Given the description of an element on the screen output the (x, y) to click on. 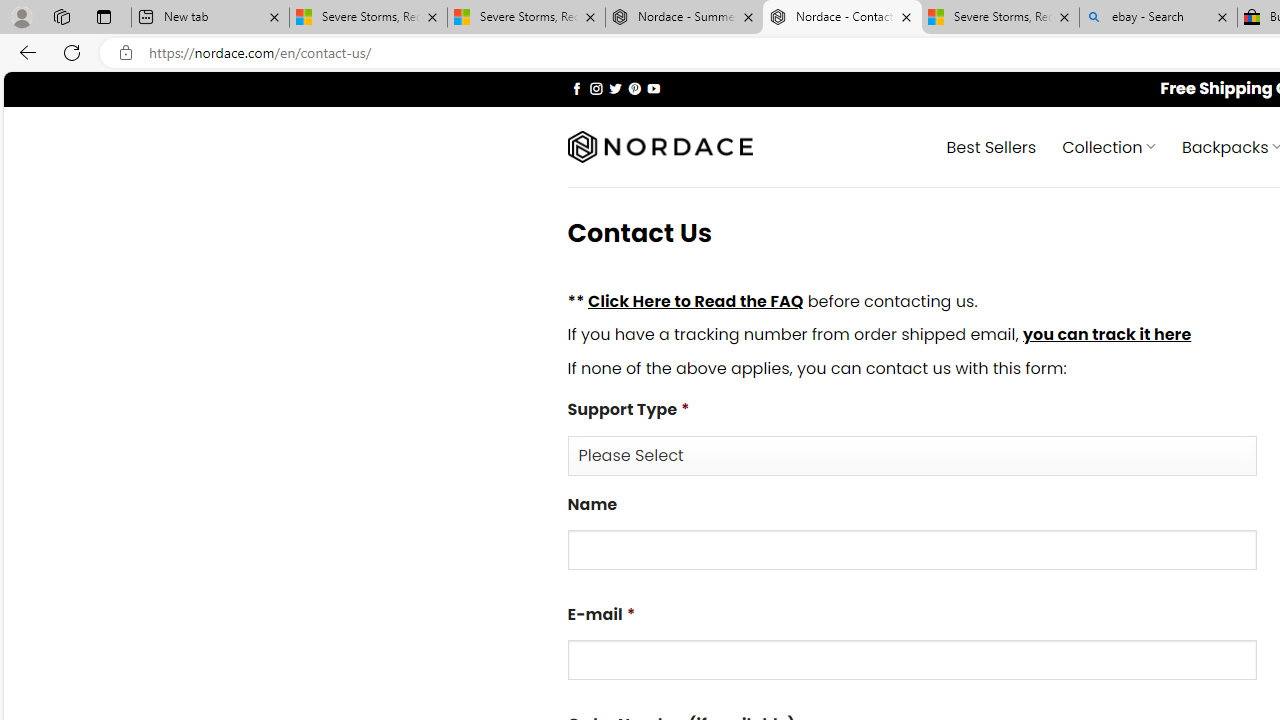
Follow on Instagram (596, 88)
Nordace - Contact Us (842, 17)
Follow on Pinterest (634, 88)
Follow on Facebook (576, 88)
Follow on Twitter (615, 88)
Follow on YouTube (653, 88)
